Given the description of an element on the screen output the (x, y) to click on. 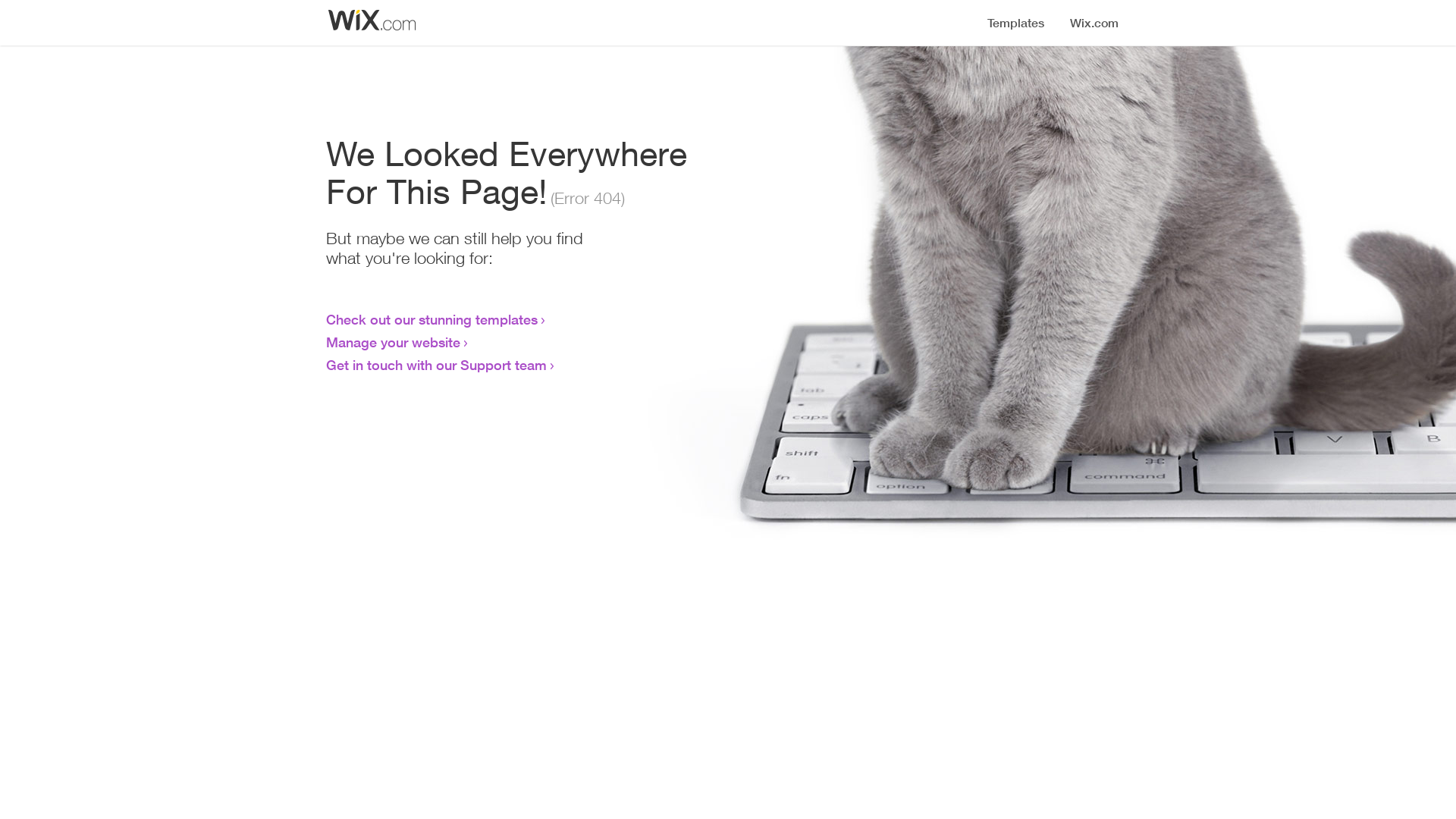
Get in touch with our Support team Element type: text (436, 364)
Check out our stunning templates Element type: text (431, 318)
Manage your website Element type: text (393, 341)
